Given the description of an element on the screen output the (x, y) to click on. 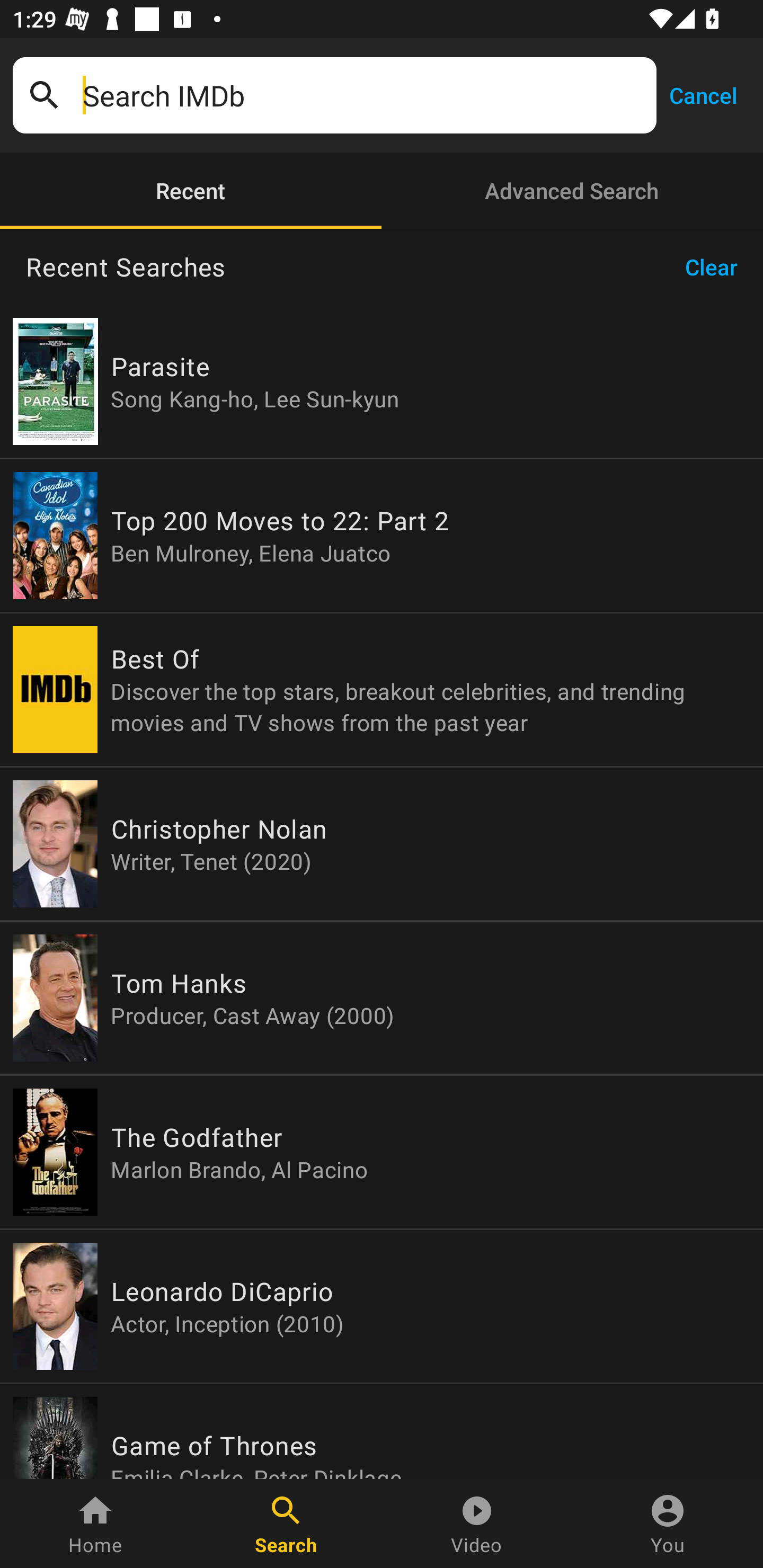
Cancel (703, 94)
Search IMDb (363, 95)
Advanced Search (572, 190)
Clear (717, 266)
Parasite Song Kang-ho, Lee Sun-kyun (381, 381)
Christopher Nolan Writer, Tenet (2020) (381, 844)
Tom Hanks Producer, Cast Away (2000) (381, 997)
The Godfather Marlon Brando, Al Pacino (381, 1151)
Leonardo DiCaprio Actor, Inception (2010) (381, 1305)
Game of Thrones Emilia Clarke, Peter Dinklage (381, 1431)
Home (95, 1523)
Video (476, 1523)
You (667, 1523)
